Given the description of an element on the screen output the (x, y) to click on. 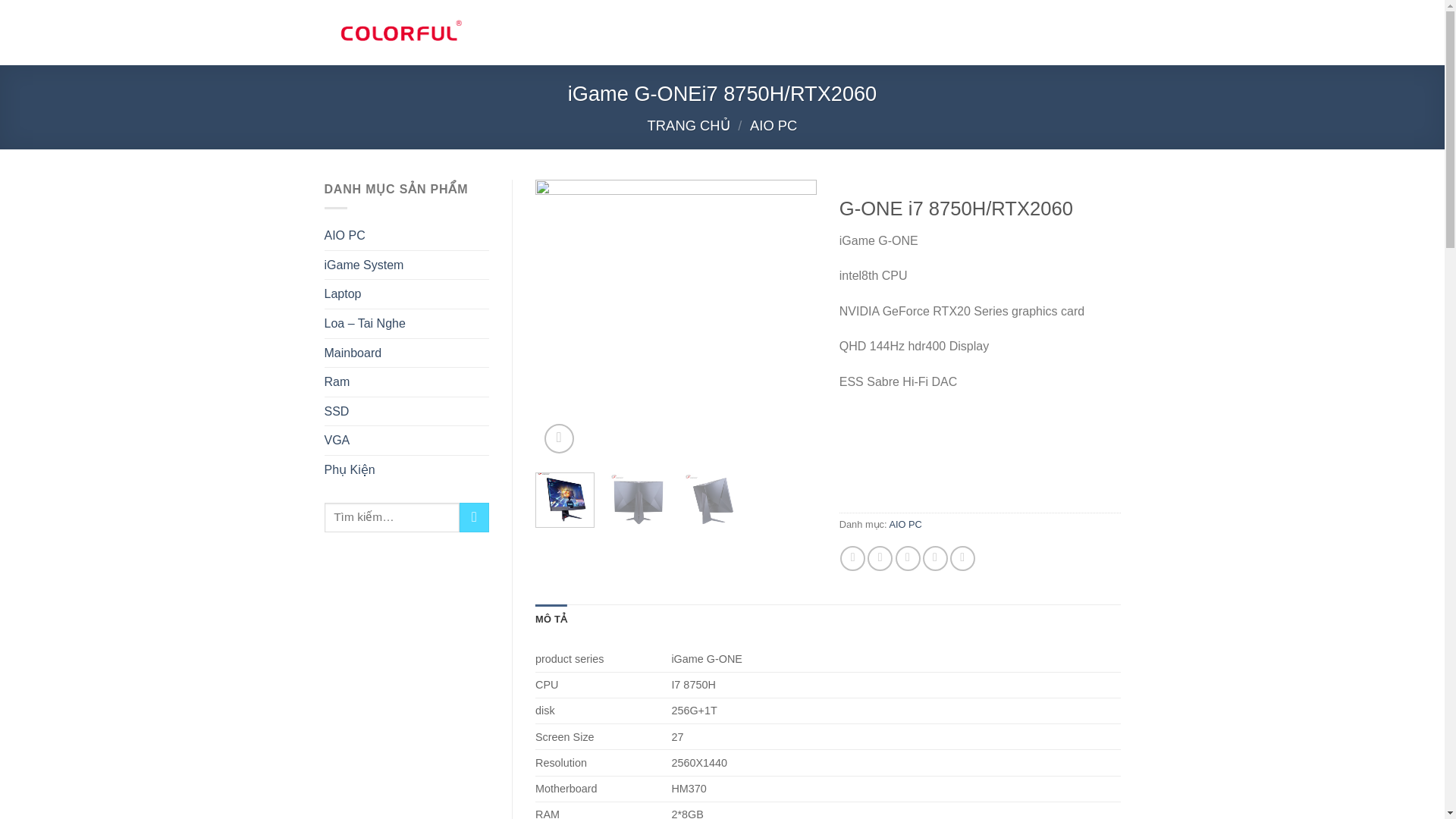
Pin on Pinterest (935, 558)
AIO PC (344, 235)
Colorful Vietnam - WE PROMISE, WE DELIVERRY (400, 32)
201909031433529741 (1237, 320)
Share on Twitter (879, 558)
AIO PC (772, 125)
Share on LinkedIn (962, 558)
Email to a Friend (907, 558)
201909031433527085 (956, 320)
iGame System (364, 265)
